Given the description of an element on the screen output the (x, y) to click on. 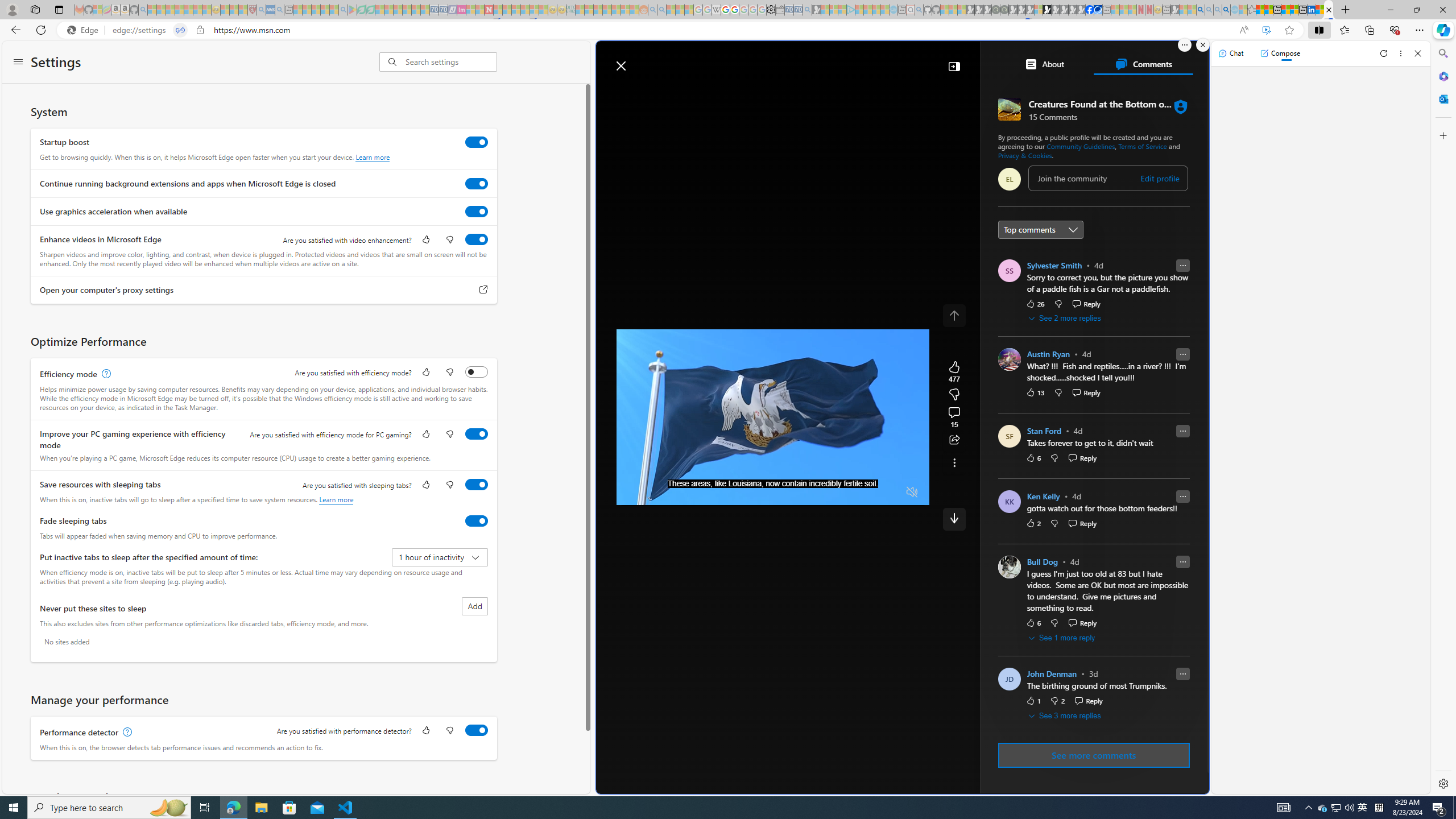
comment-box (1107, 177)
Add site to never put these sites to sleep list (474, 606)
Profile Picture (1008, 679)
utah sues federal government - Search - Sleeping (279, 9)
1 Like (1032, 700)
Creatures Found at the Bottom of the Mississippi River (1328, 9)
MSN - Sleeping (1174, 9)
